Given the description of an element on the screen output the (x, y) to click on. 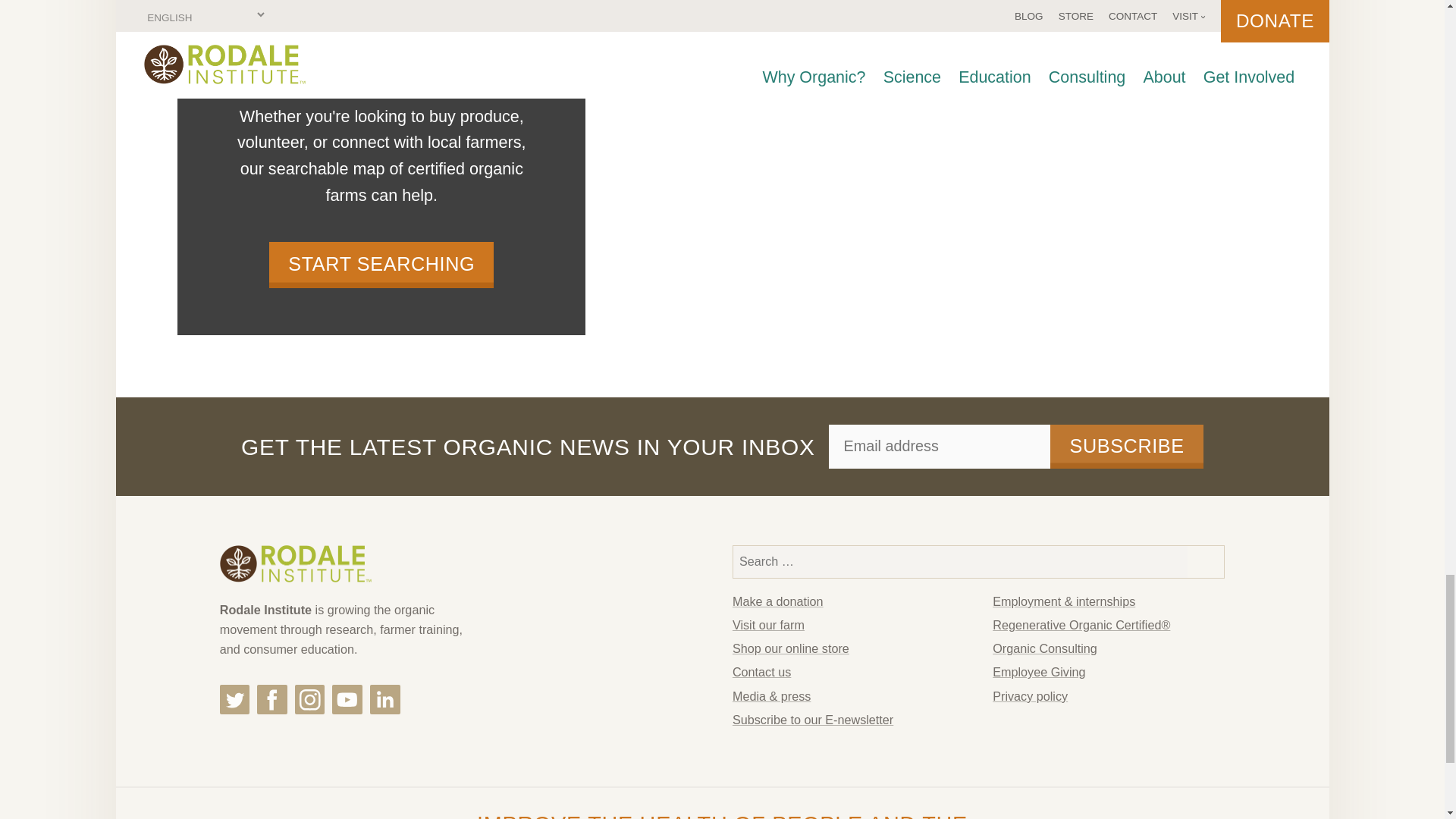
Visit Rodale's youtube page (346, 699)
Search (1206, 562)
Search (1206, 562)
Visit Rodale's instagram page (309, 699)
Visit Rodale's facebook page (271, 699)
Visit Rodale's Linked In page (384, 699)
Visit Rodale's twitter page (234, 699)
Subscribe (1126, 446)
